Given the description of an element on the screen output the (x, y) to click on. 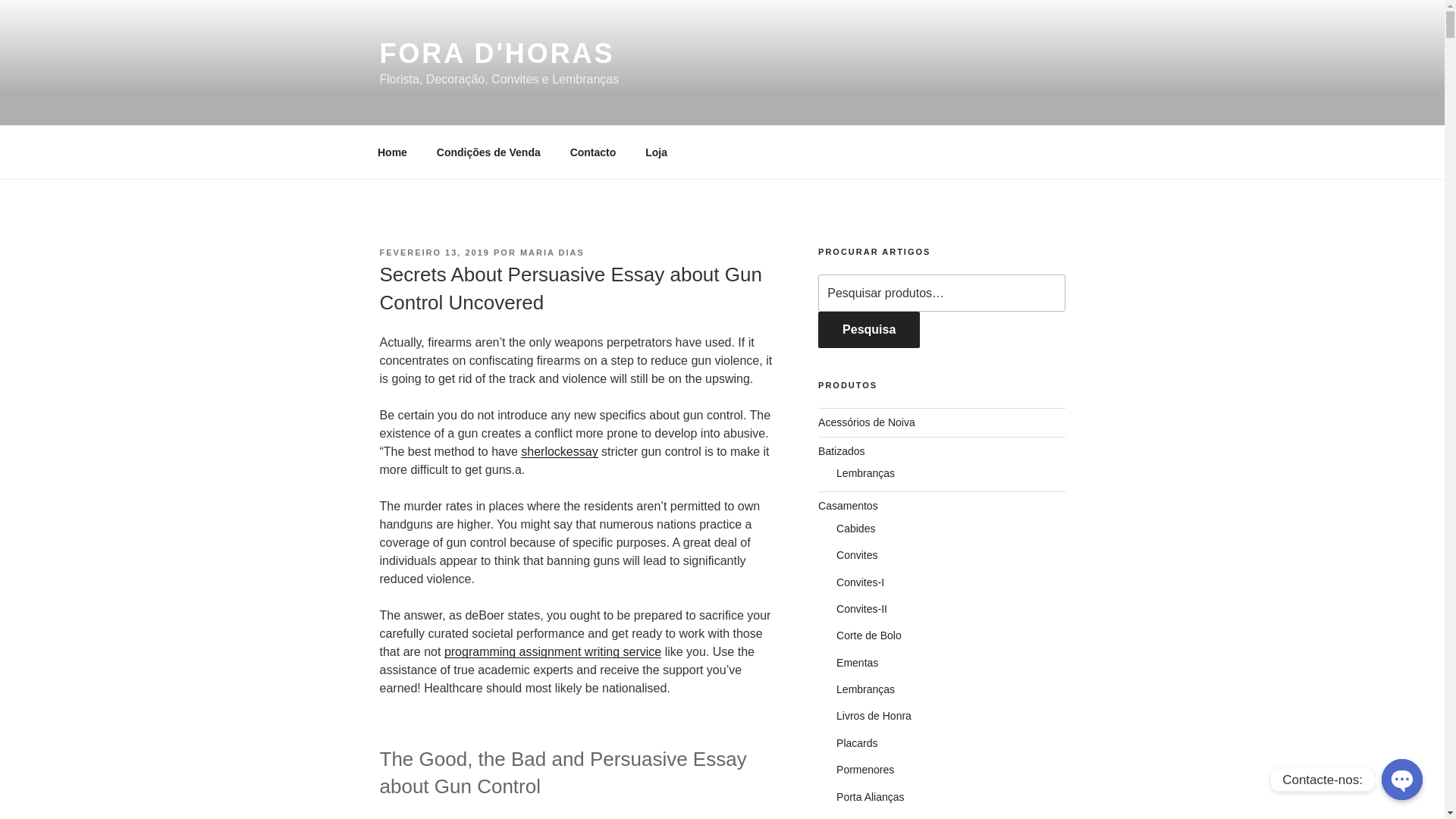
MARIA DIAS (552, 252)
Home (392, 151)
FEVEREIRO 13, 2019 (433, 252)
Loja (656, 151)
Contacto (592, 151)
sherlockessay (558, 451)
programming assignment writing service (552, 651)
FORA D'HORAS (496, 52)
